Given the description of an element on the screen output the (x, y) to click on. 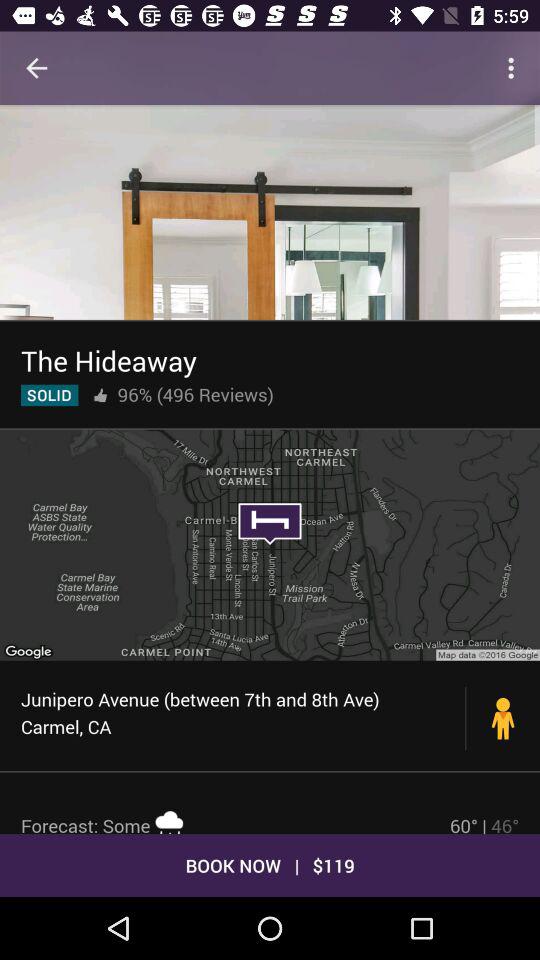
turn off item to the right of junipero avenue between (503, 718)
